Given the description of an element on the screen output the (x, y) to click on. 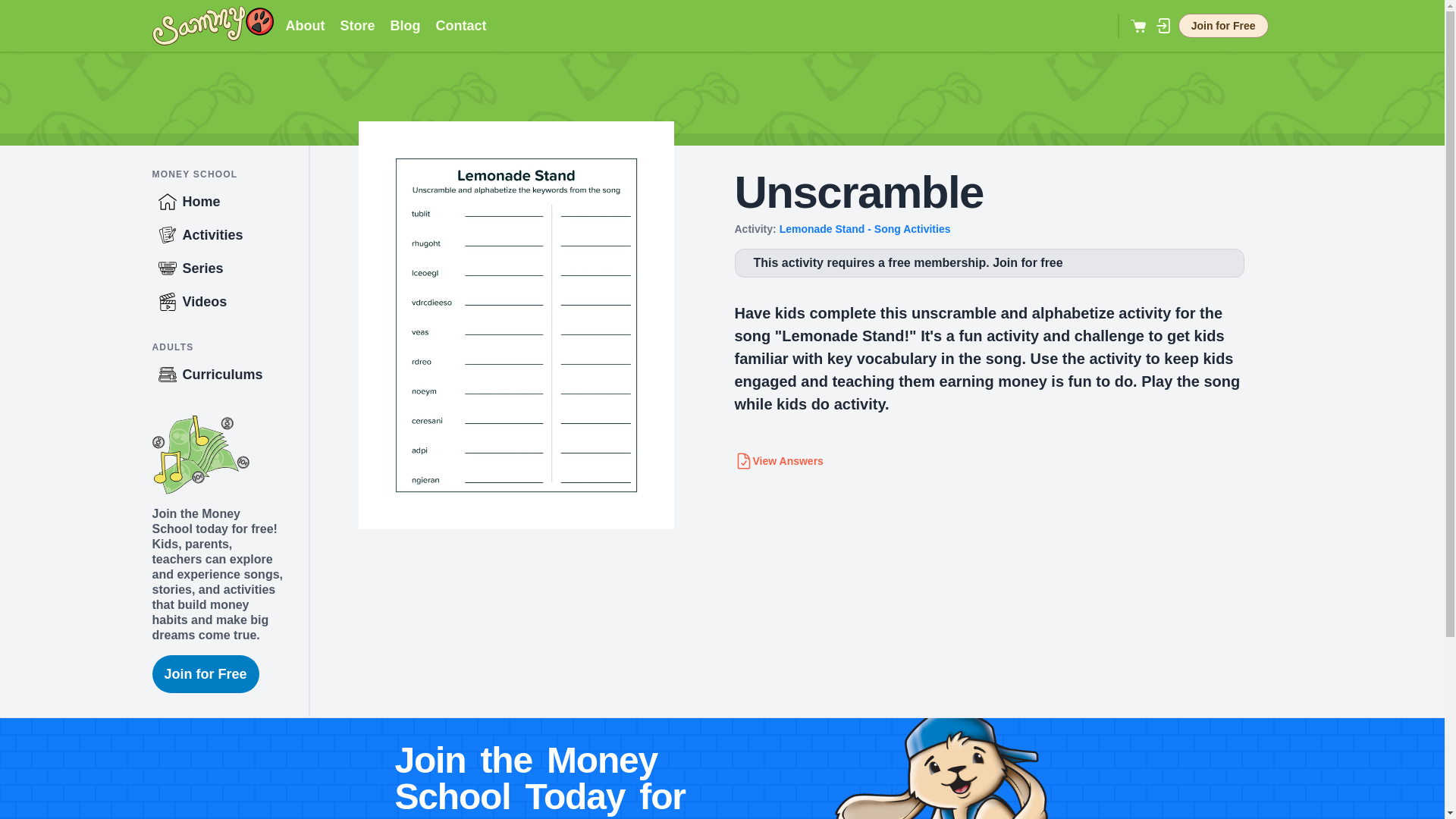
View Cart (1138, 25)
Join for Free (1222, 25)
Store (356, 25)
Join for Free (205, 673)
Curriculums (229, 374)
About (304, 25)
Join for free (1027, 262)
Lemonade Stand - Song Activities (864, 228)
Home (229, 201)
Contact (460, 25)
Activities (229, 234)
Videos (229, 301)
View Answers (777, 461)
Login (1163, 25)
Series (229, 268)
